Given the description of an element on the screen output the (x, y) to click on. 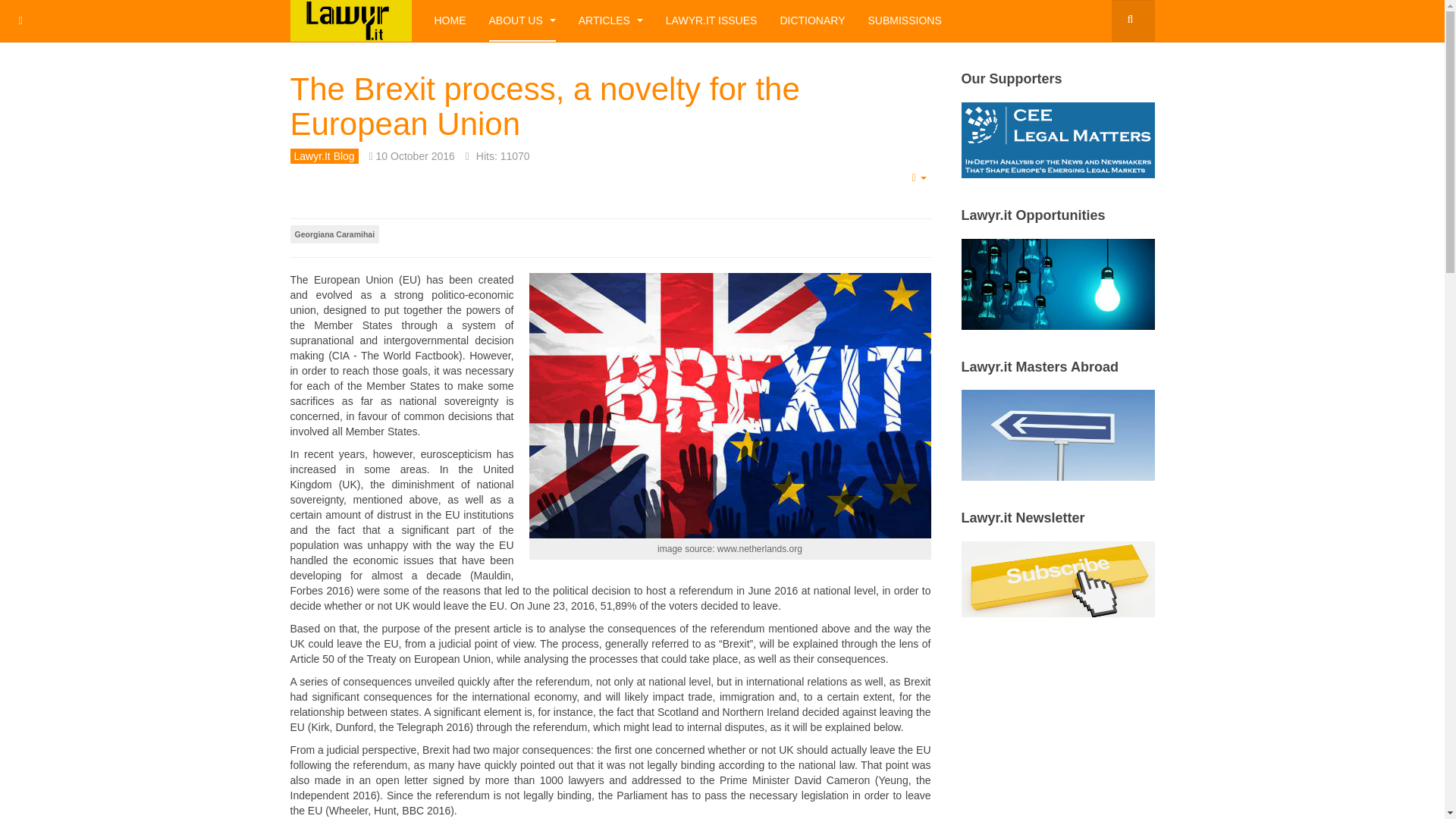
Lawyr.it Newsletter (1057, 578)
Purity III (349, 20)
Masters Abroad (1057, 434)
Lawyr.it Opportunities (1057, 282)
CEELM (1057, 139)
The Brexit process, a novelty for the European Union (544, 106)
image source: www.netherlands.org (730, 405)
